Given the description of an element on the screen output the (x, y) to click on. 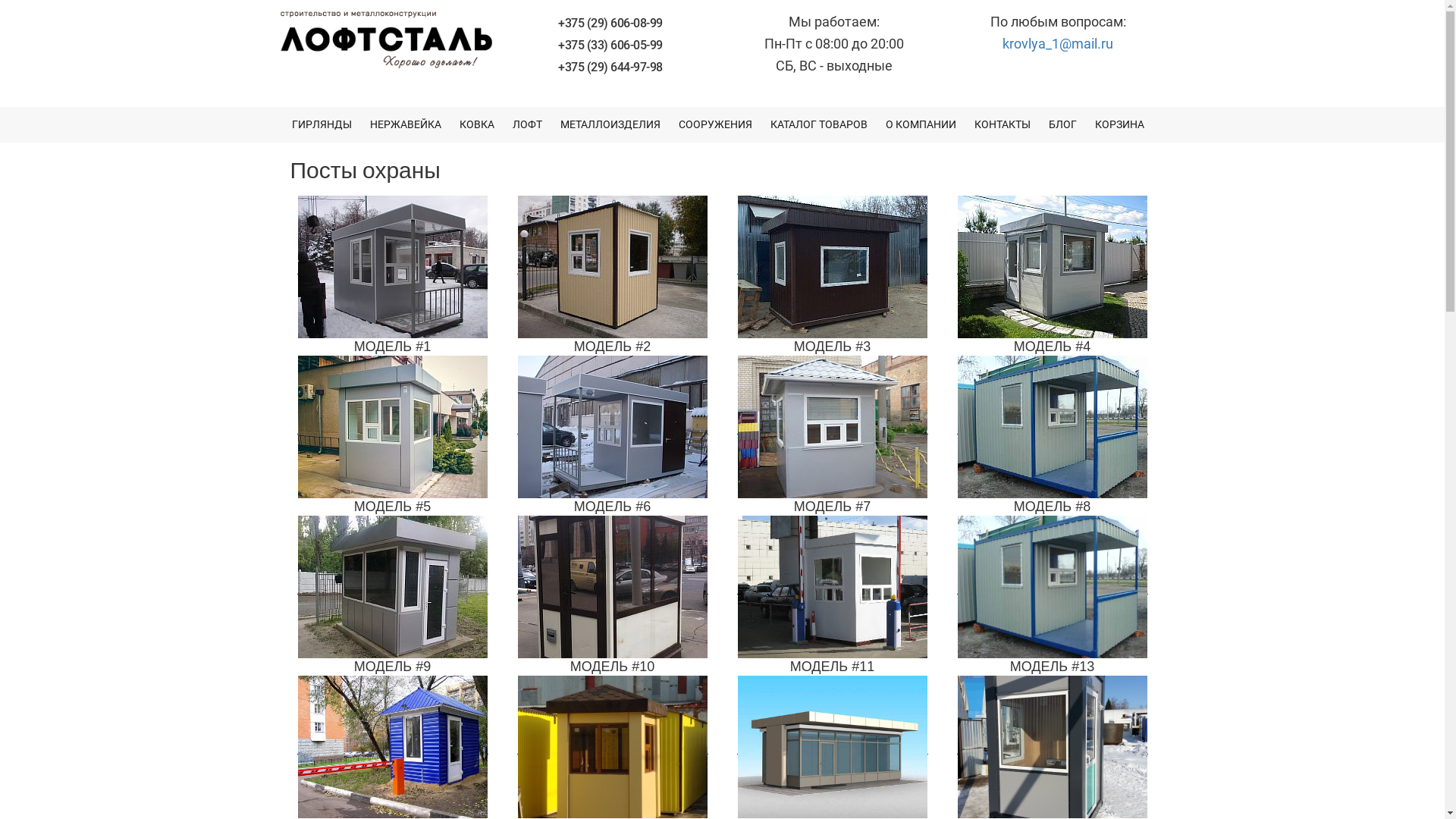
krovlya_1@mail.ru Element type: text (1057, 43)
+375 (29) 606-08-99 Element type: text (610, 22)
+375 (33) 606-05-99 Element type: text (610, 44)
+375 (29) 644-97-98 Element type: text (610, 66)
